Given the description of an element on the screen output the (x, y) to click on. 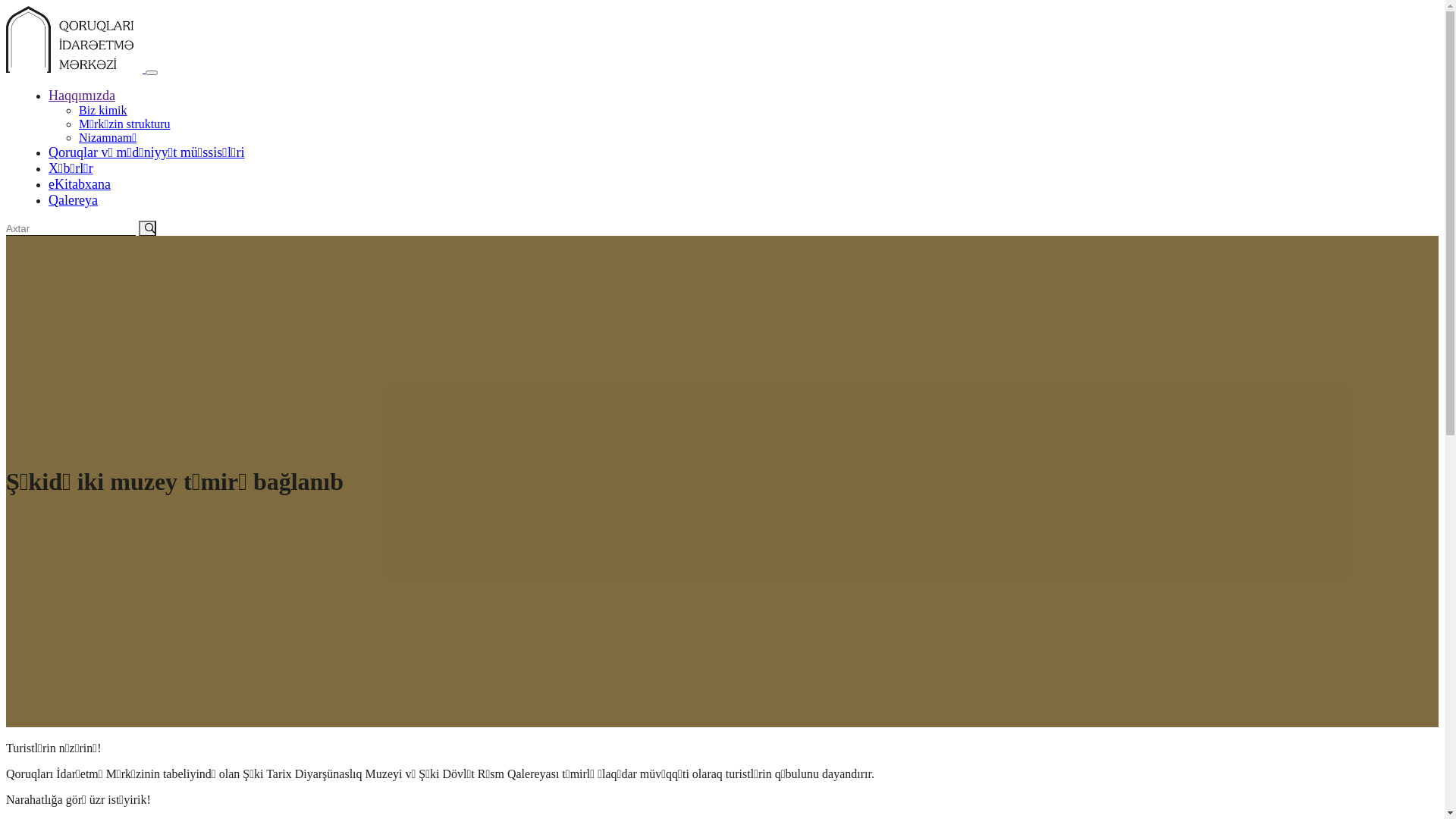
Qalereya Element type: text (72, 199)
eKitabxana Element type: text (79, 183)
Biz kimik Element type: text (102, 109)
